Given the description of an element on the screen output the (x, y) to click on. 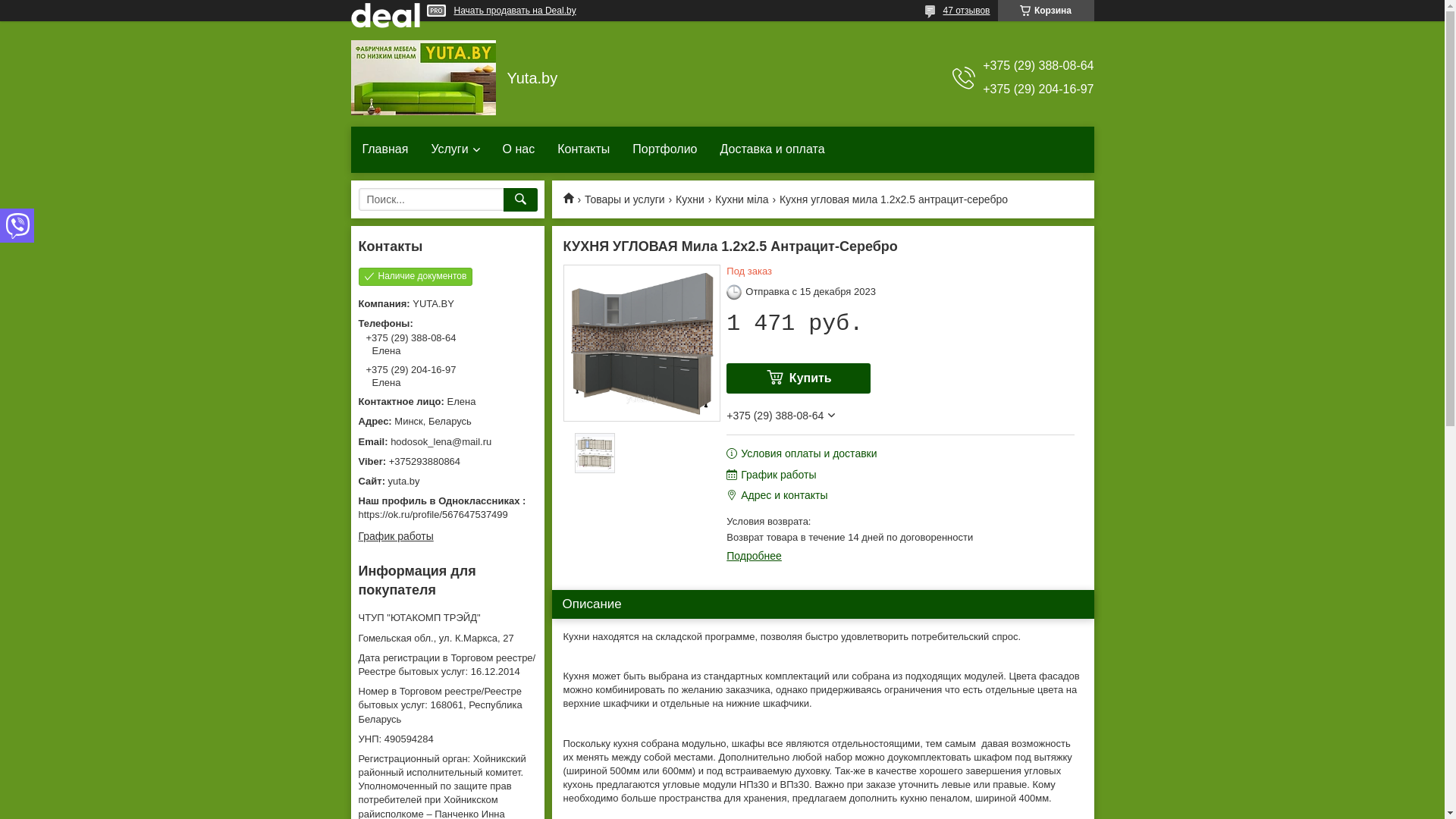
Yuta.by Element type: hover (572, 197)
hodosok_lena@mail.ru Element type: text (446, 441)
YUTA.BY Element type: hover (422, 77)
yuta.by Element type: text (446, 481)
https://ok.ru/profile/567647537499 Element type: text (432, 514)
